Given the description of an element on the screen output the (x, y) to click on. 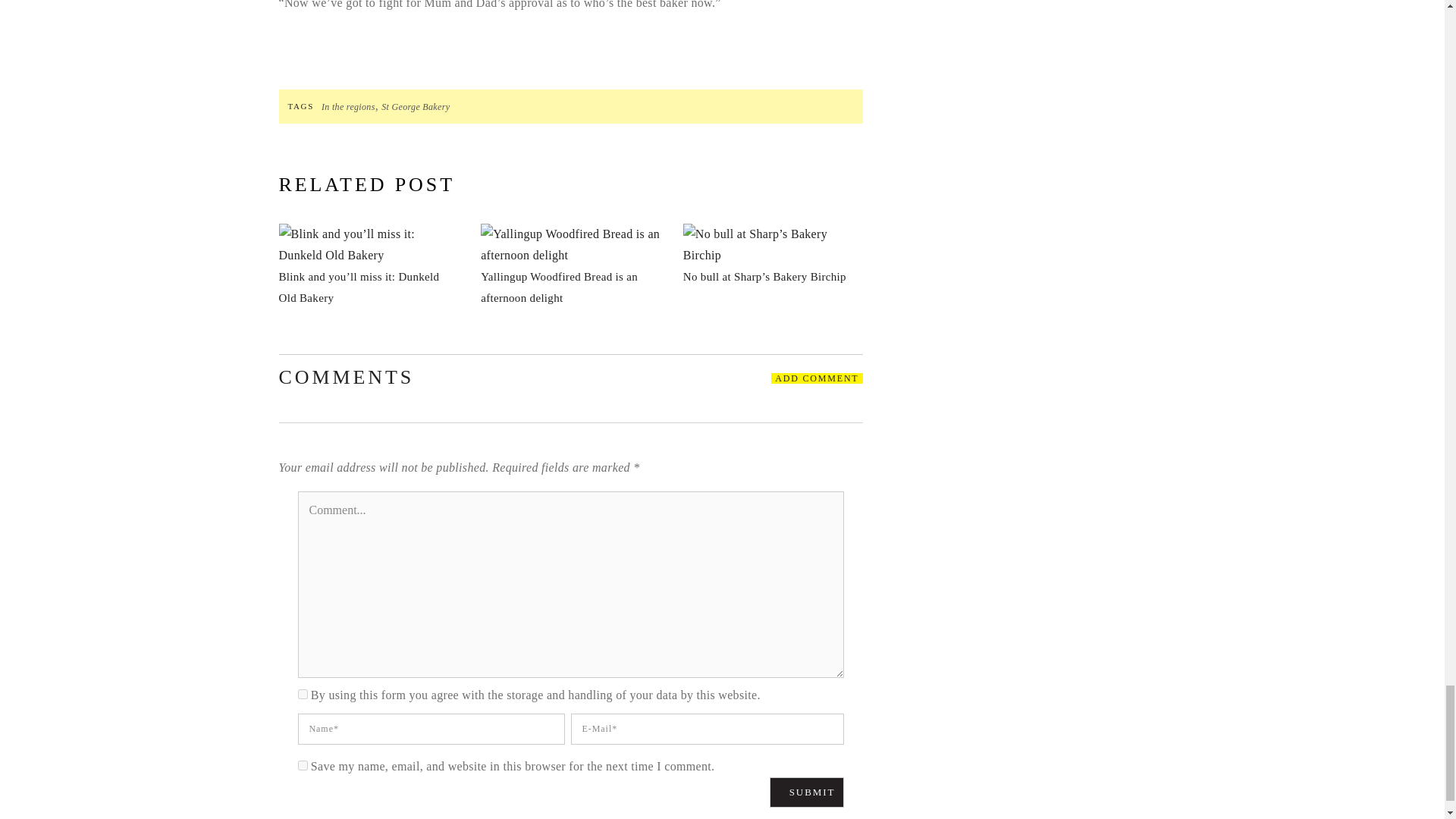
yes (302, 765)
privacy-key (302, 694)
Submit (807, 792)
